Given the description of an element on the screen output the (x, y) to click on. 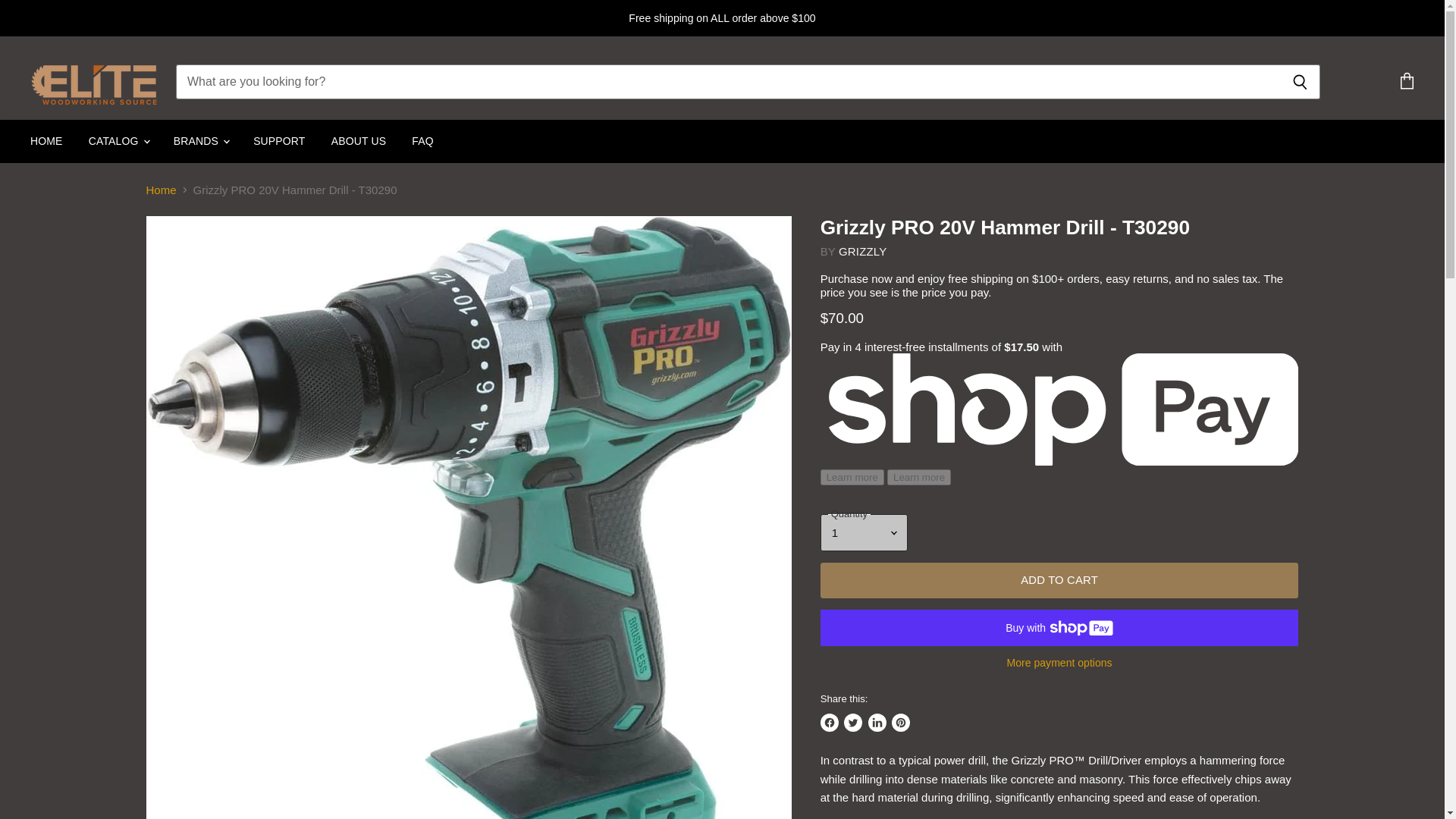
FAQ (422, 141)
BRANDS (199, 141)
CATALOG (117, 141)
SUPPORT (278, 141)
ABOUT US (358, 141)
Grizzly (862, 250)
HOME (46, 141)
